Given the description of an element on the screen output the (x, y) to click on. 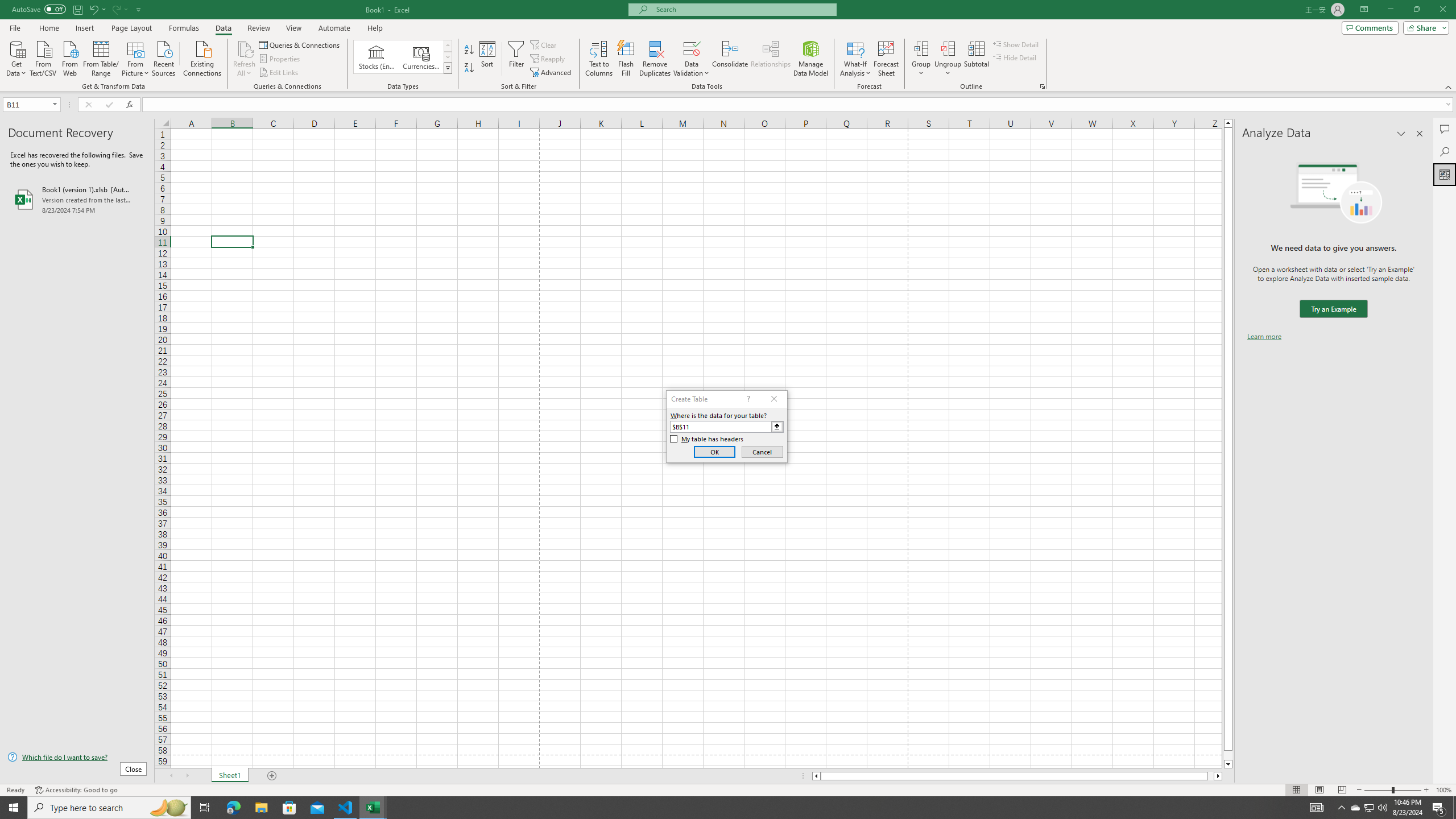
Relationships (770, 58)
AutomationID: ConvertToLinkedEntity (403, 56)
Existing Connections (202, 57)
Queries & Connections (300, 44)
